Given the description of an element on the screen output the (x, y) to click on. 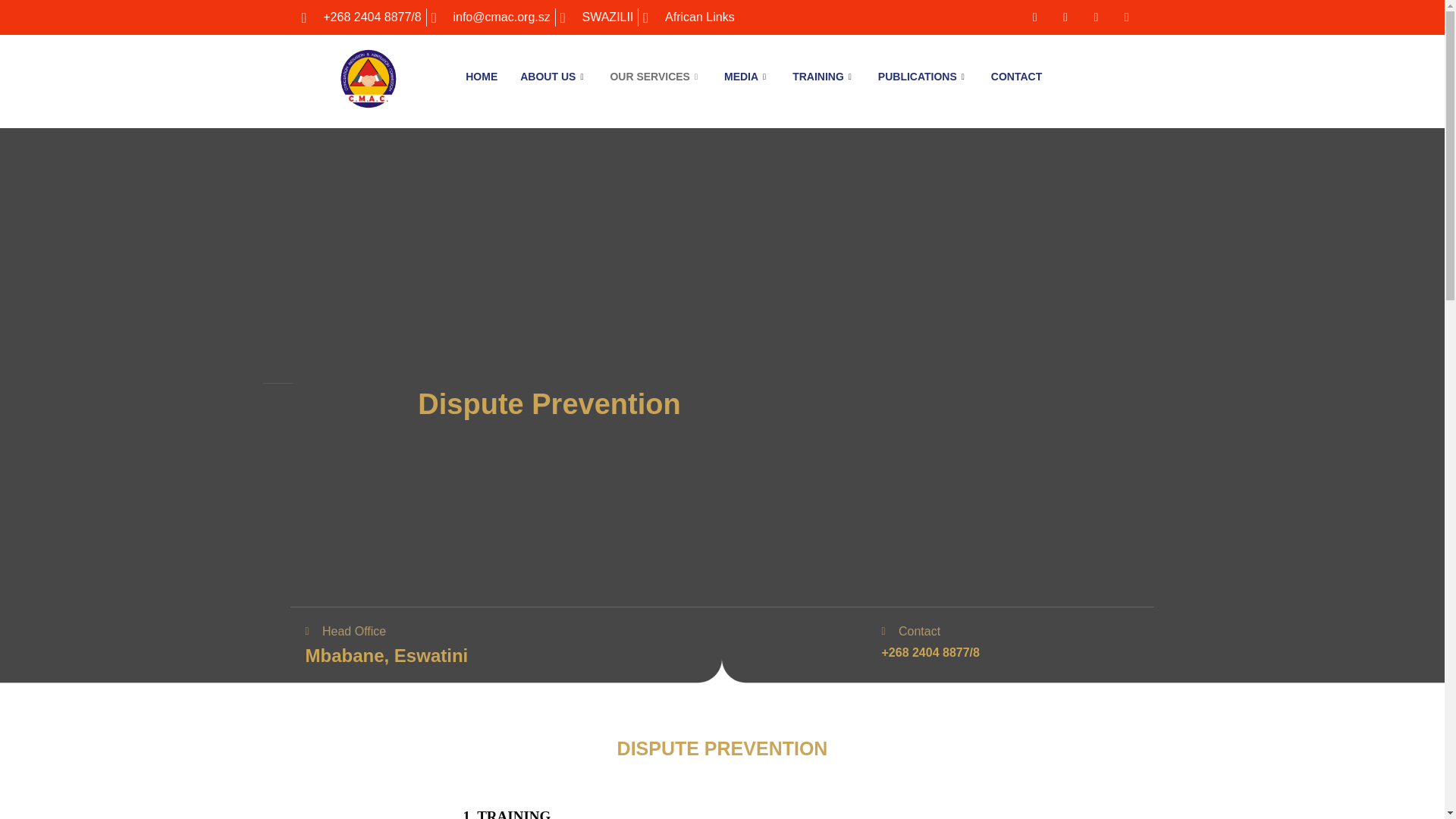
SWAZILII (596, 17)
ABOUT US (553, 76)
OUR SERVICES (655, 76)
HOME (481, 76)
CONTACT (1015, 76)
TRAINING (823, 76)
African Links (688, 17)
PUBLICATIONS (922, 76)
MEDIA (746, 76)
